Given the description of an element on the screen output the (x, y) to click on. 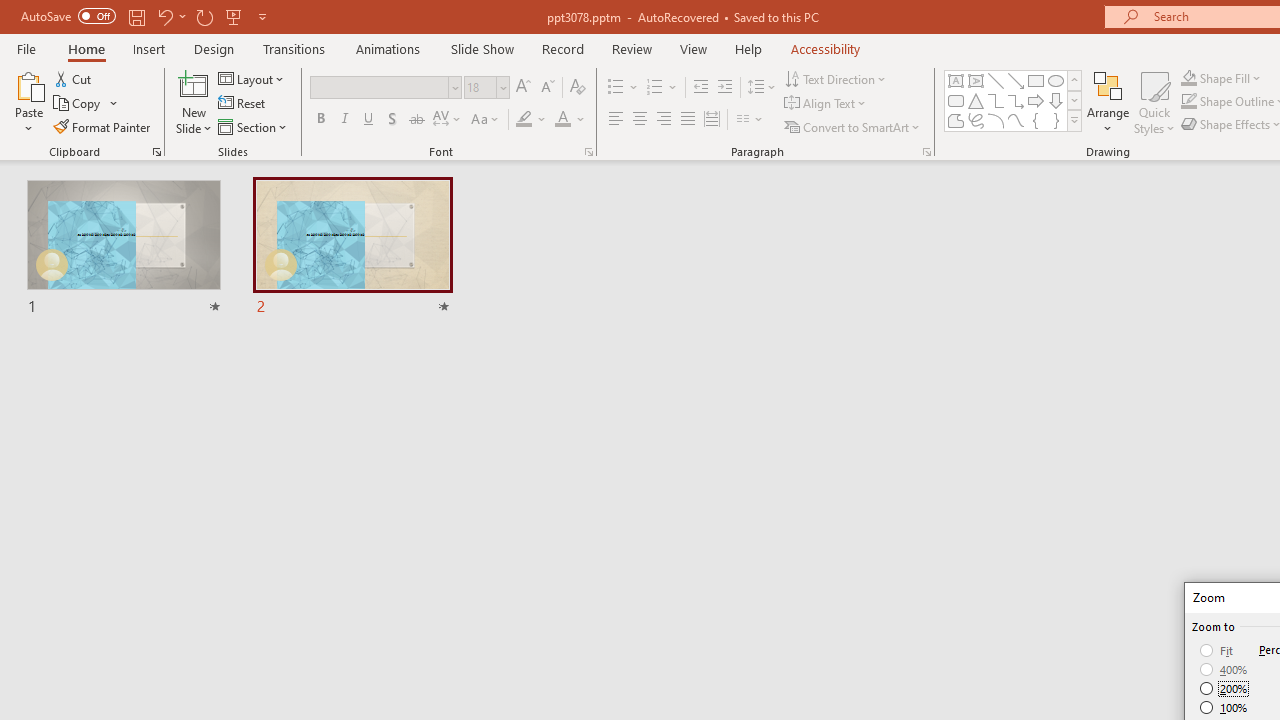
400% (1224, 669)
100% (1224, 707)
